Given the description of an element on the screen output the (x, y) to click on. 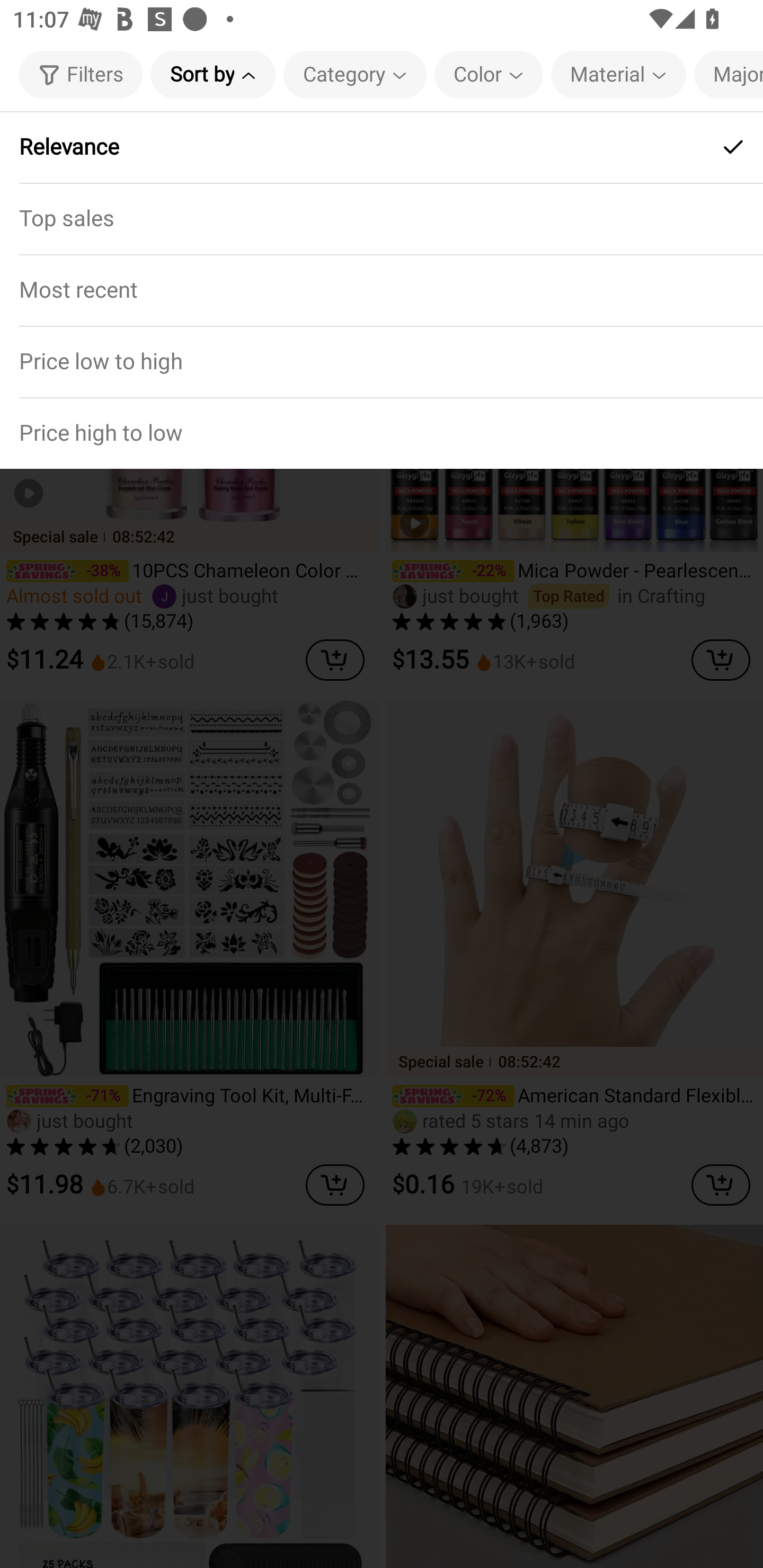
Filters (80, 74)
Sort by (212, 74)
Category (354, 74)
Color (488, 74)
Material (617, 74)
Relevance (381, 147)
Top sales (381, 218)
Most recent (381, 290)
Price low to high (381, 361)
Price high to low (381, 432)
